Given the description of an element on the screen output the (x, y) to click on. 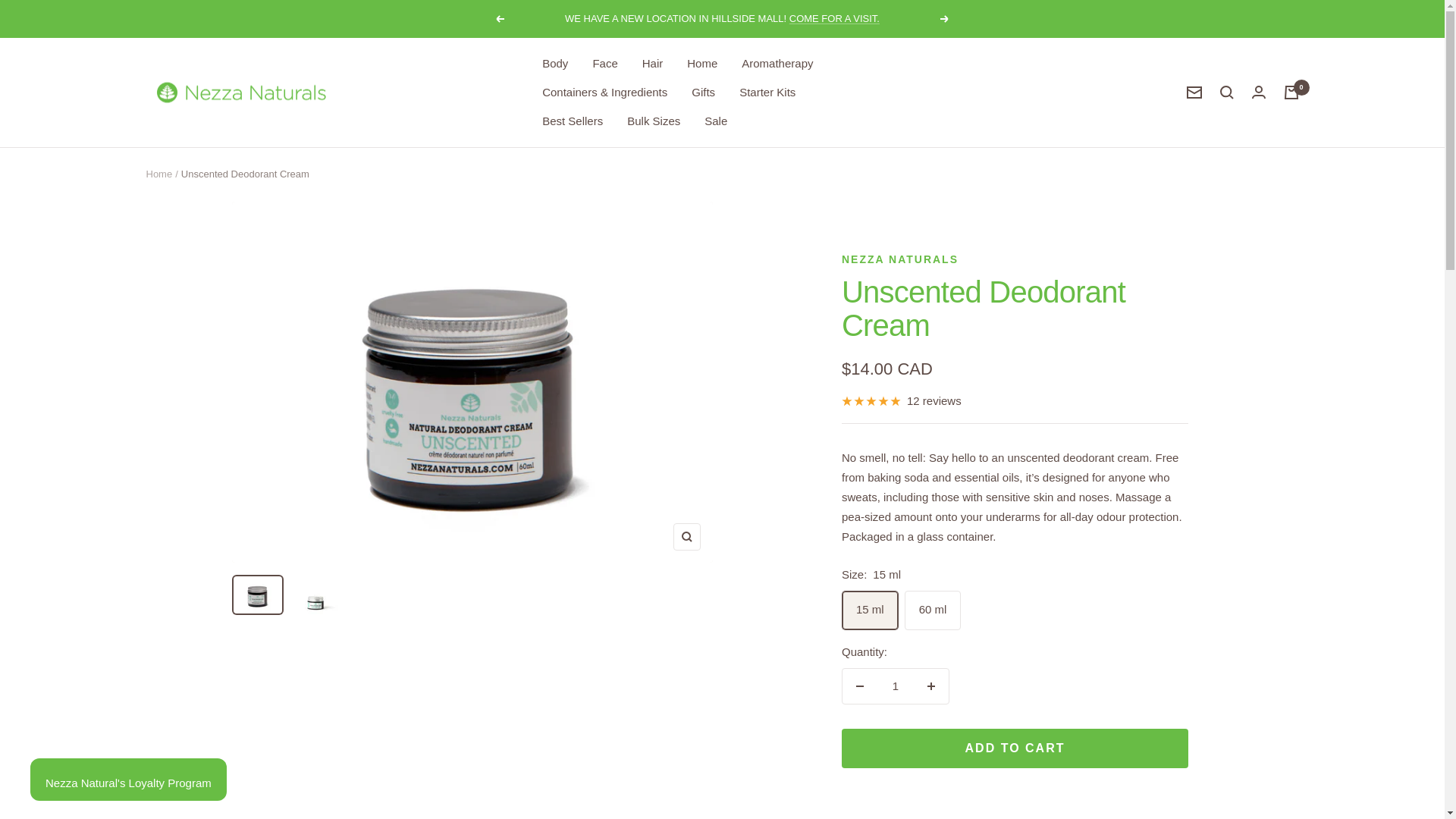
Bulk Sizes (653, 121)
Nezza Naturals (239, 92)
0 (1291, 92)
Next (944, 18)
Home (702, 63)
Hair (652, 63)
Starter Kits (766, 92)
Home (158, 173)
Zoom (686, 536)
